Given the description of an element on the screen output the (x, y) to click on. 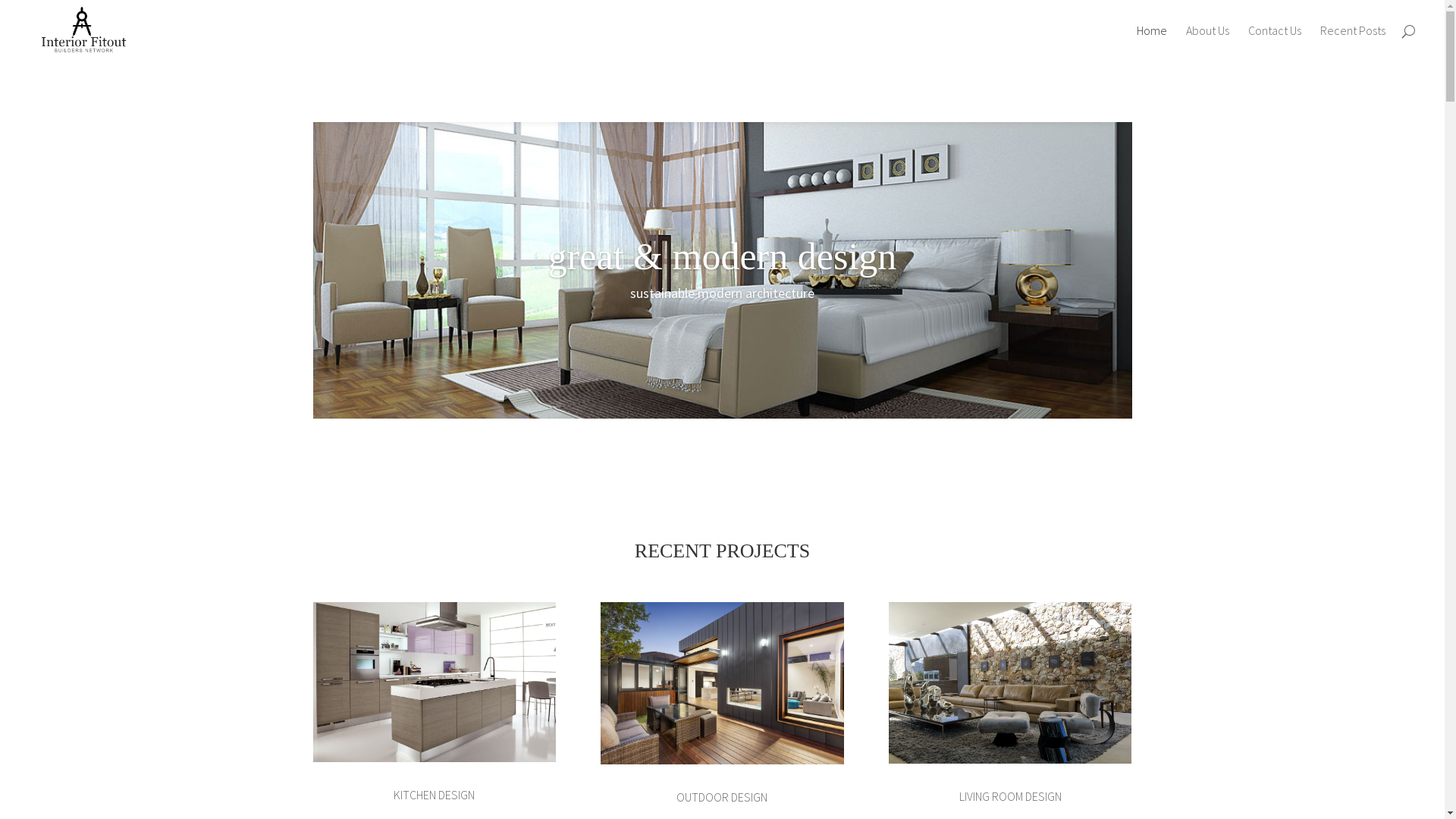
About Us Element type: text (1207, 42)
Recent Posts Element type: text (1352, 42)
Contact Us Element type: text (1274, 42)
Home Element type: text (1151, 42)
